Given the description of an element on the screen output the (x, y) to click on. 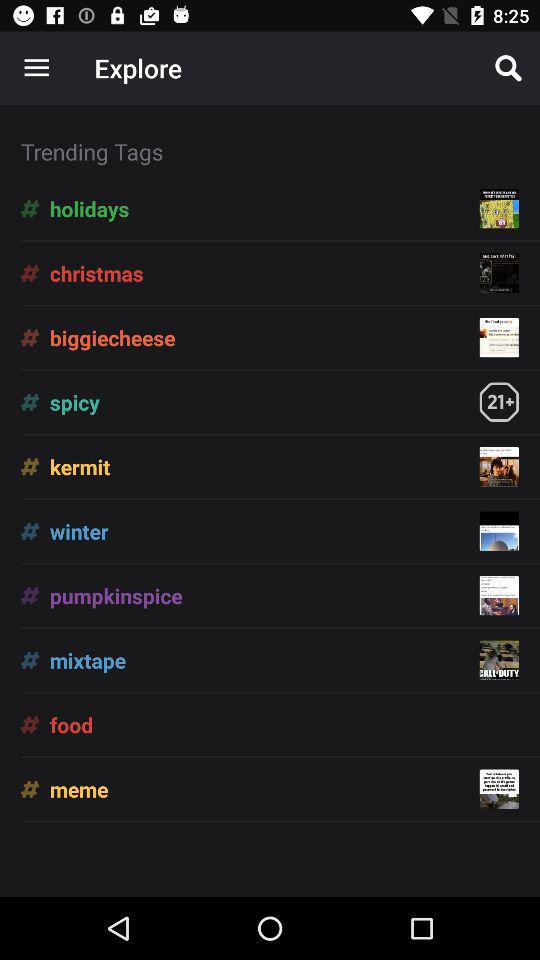
turn on the item next to the explore icon (36, 68)
